Given the description of an element on the screen output the (x, y) to click on. 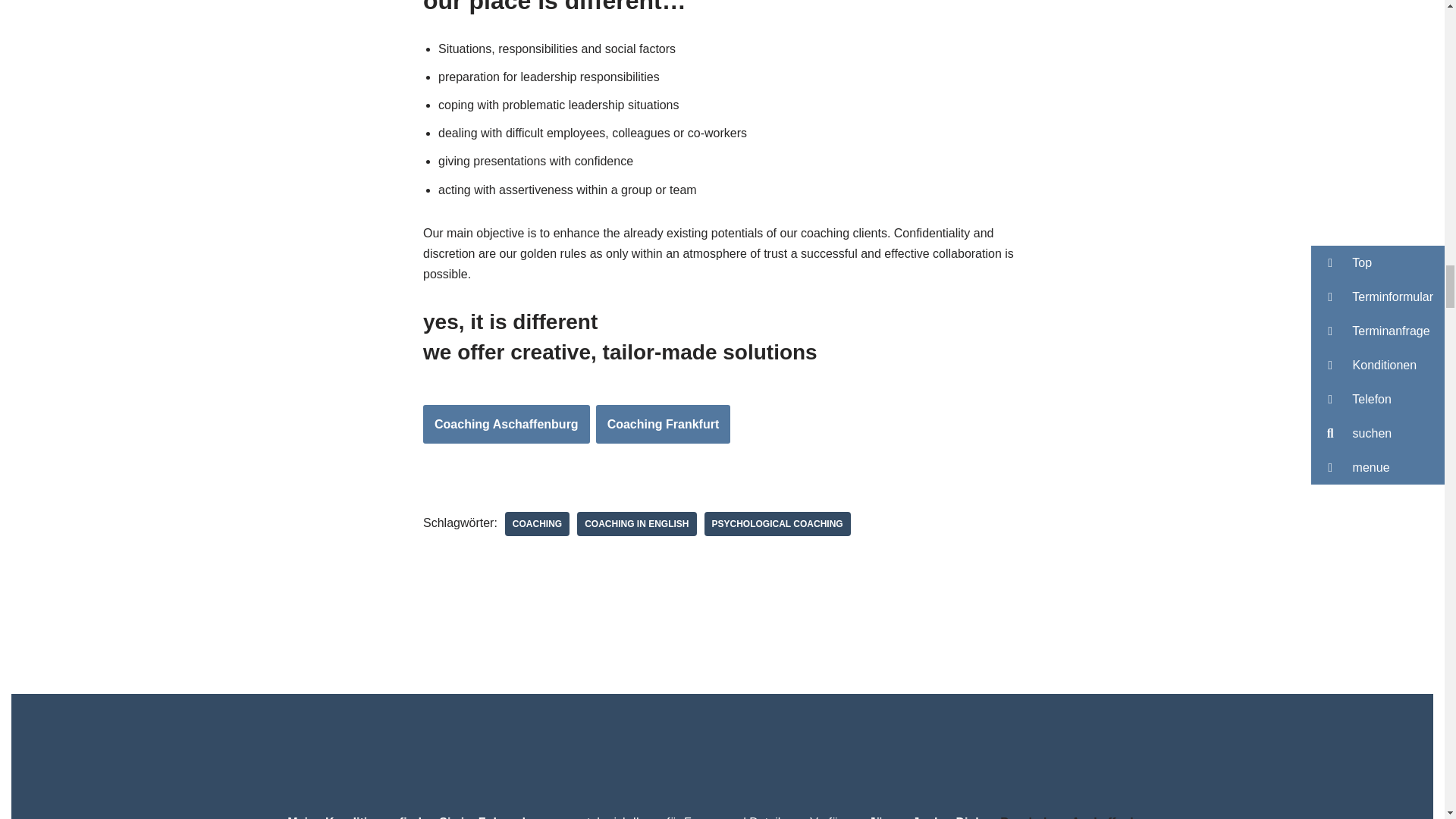
coaching in English (635, 523)
coaching (537, 523)
psychological coaching (777, 523)
